Given the description of an element on the screen output the (x, y) to click on. 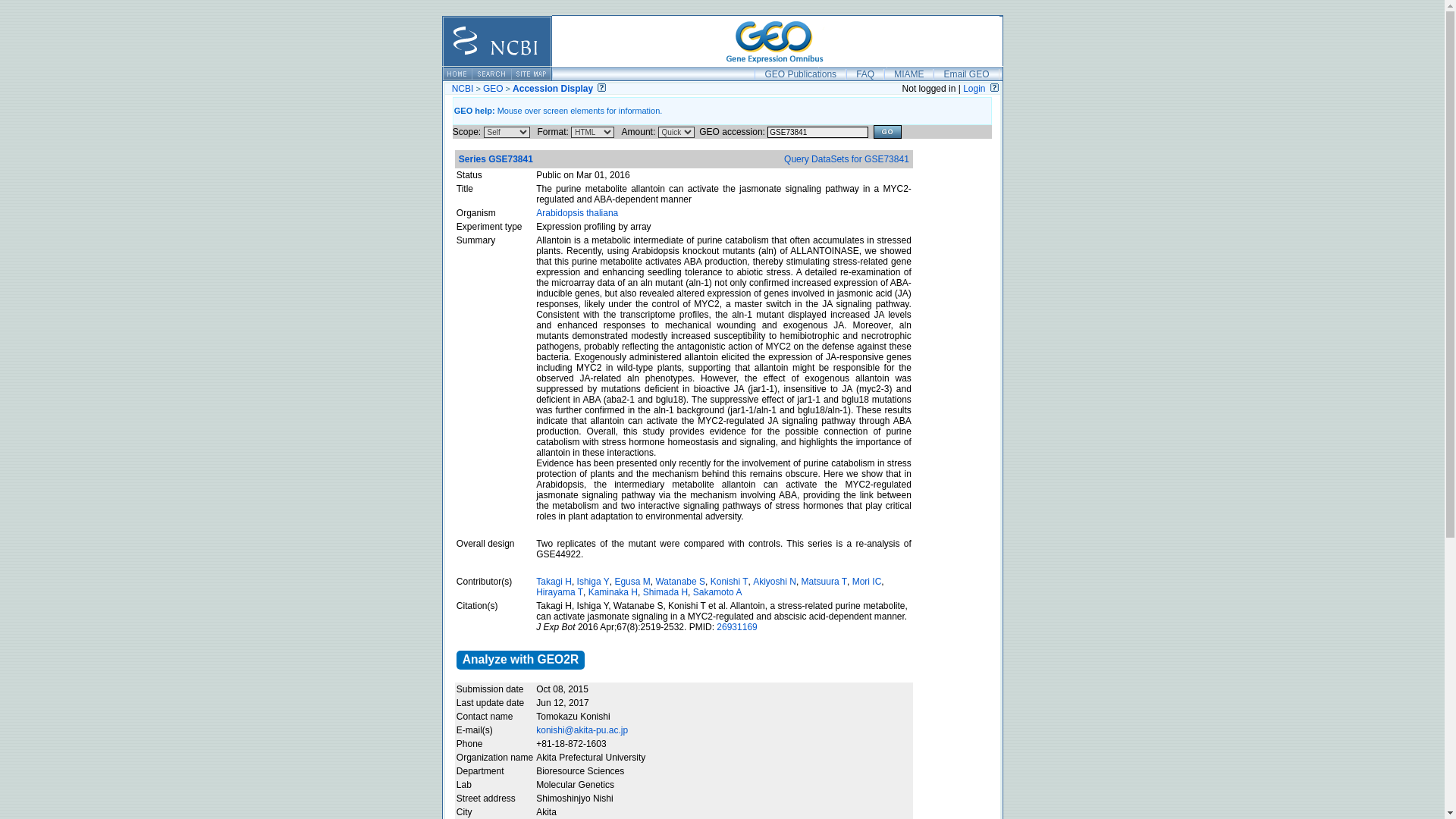
Matsuura T (824, 581)
Sakamoto A (717, 592)
Analyze with GEO2R (521, 659)
Takagi H (553, 581)
Kaminaka H (612, 592)
GSE73841 (817, 131)
26931169 (736, 626)
Ishiga Y (593, 581)
Series GSE73841 (495, 158)
Email GEO (965, 73)
